Given the description of an element on the screen output the (x, y) to click on. 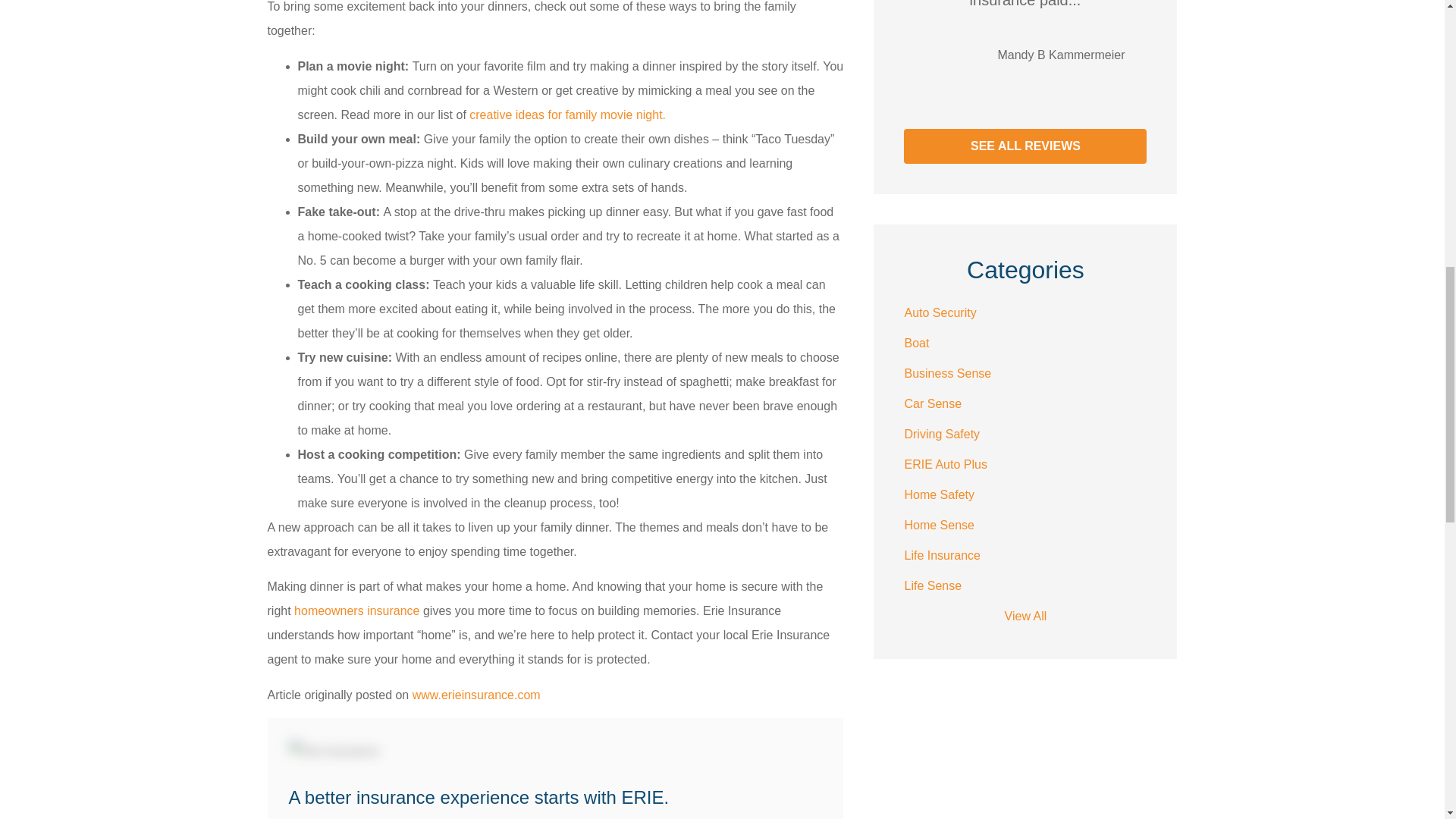
Mandy Barrett Kammermeier (954, 54)
